Given the description of an element on the screen output the (x, y) to click on. 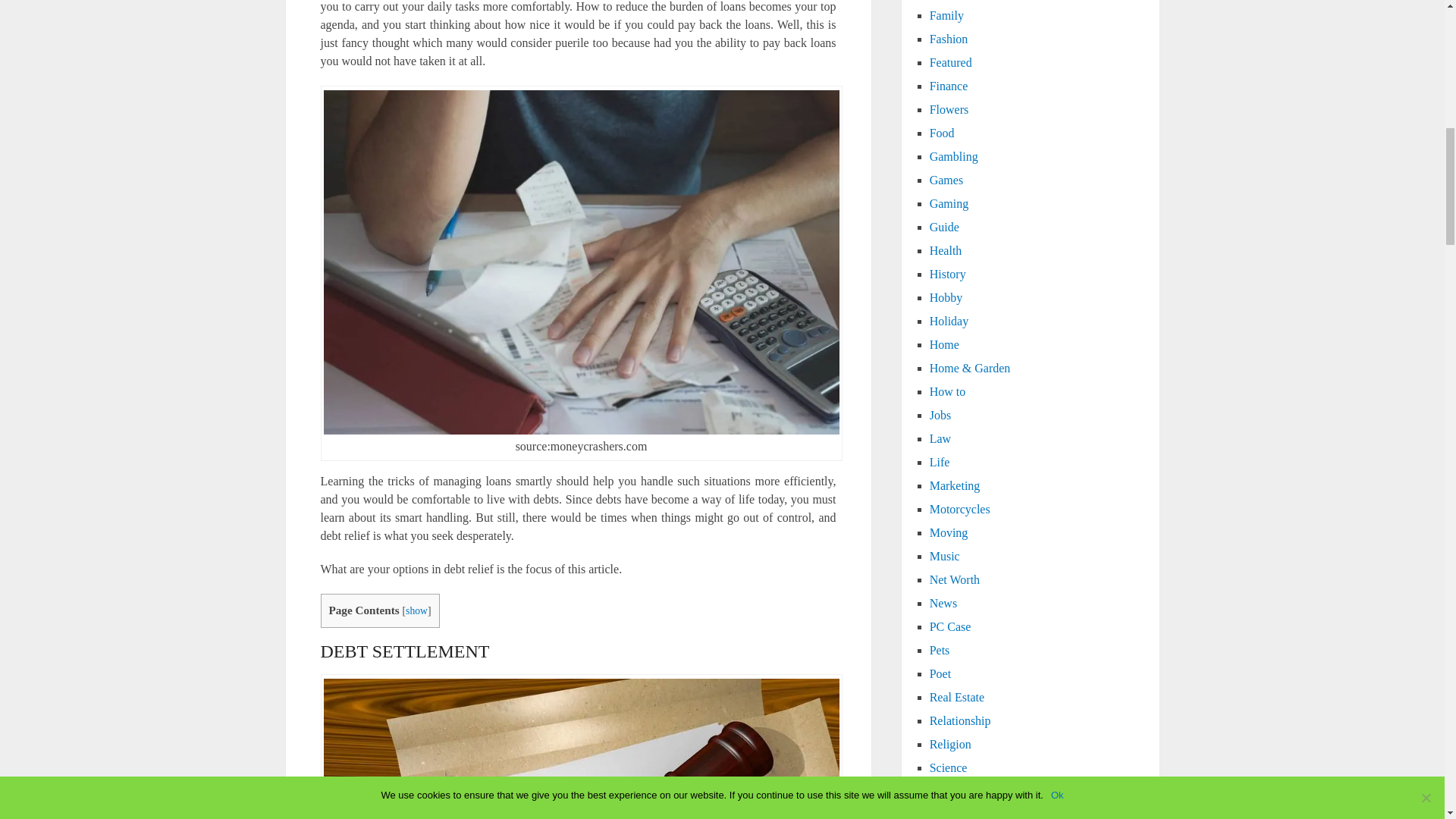
show (417, 610)
